Given the description of an element on the screen output the (x, y) to click on. 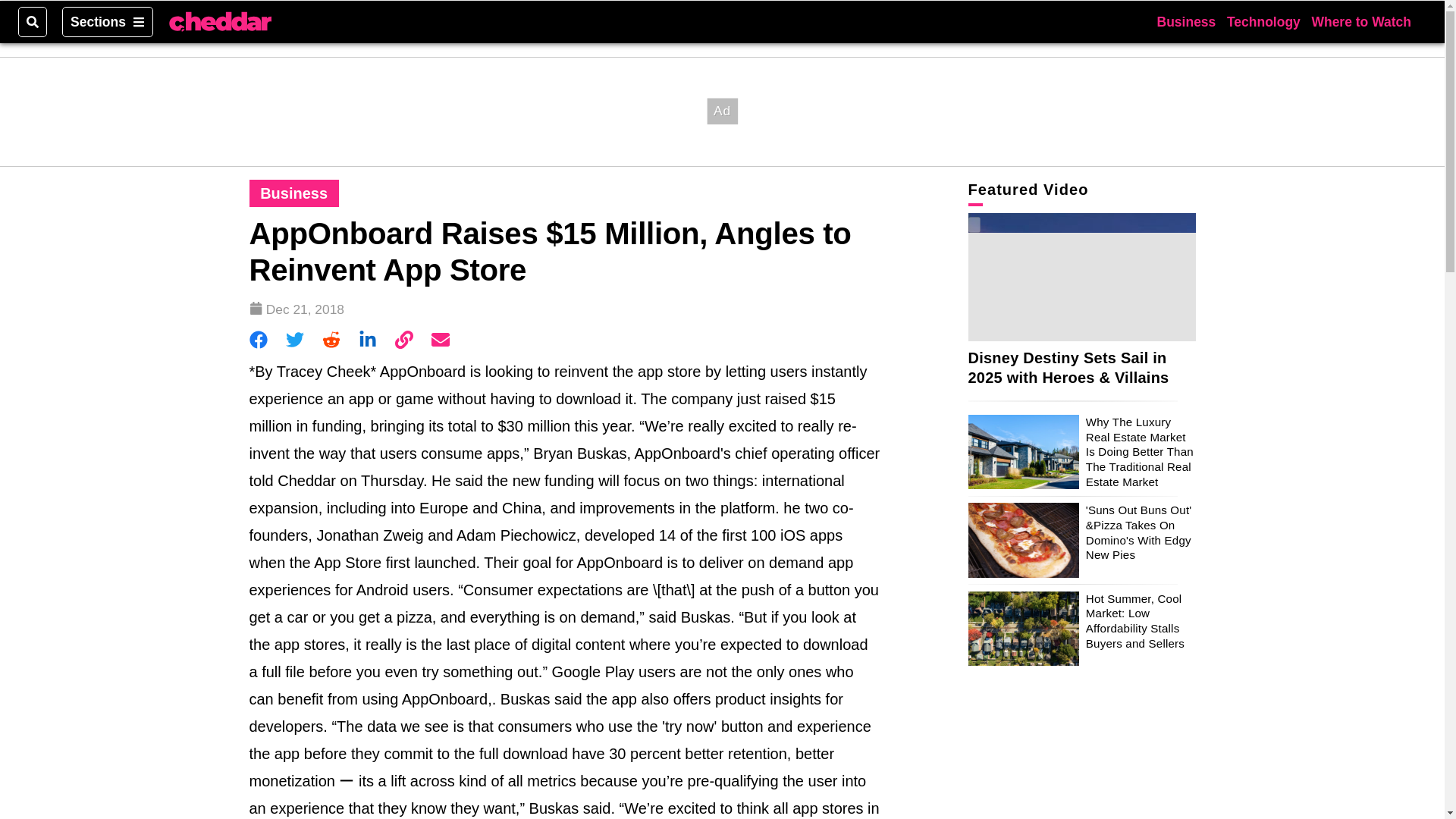
Cheddar Logo (220, 21)
Sections (107, 21)
Where to Watch (1360, 21)
Business (293, 193)
Business (1186, 21)
Technology (1263, 21)
